Given the description of an element on the screen output the (x, y) to click on. 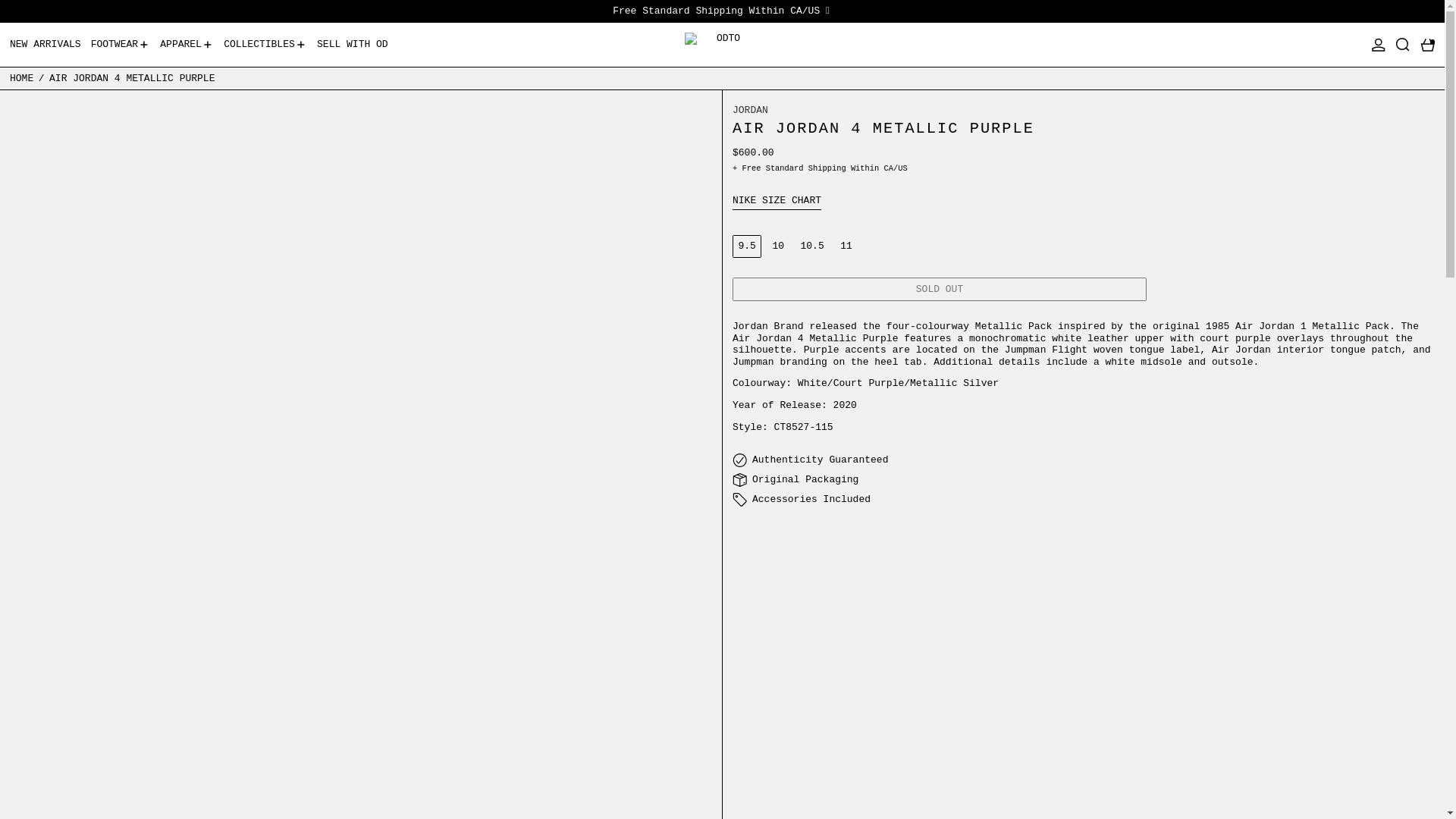
HOME (21, 77)
JORDAN (750, 110)
NEW ARRIVALS (45, 44)
FOOTWEAR (120, 44)
APPAREL (187, 44)
